Given the description of an element on the screen output the (x, y) to click on. 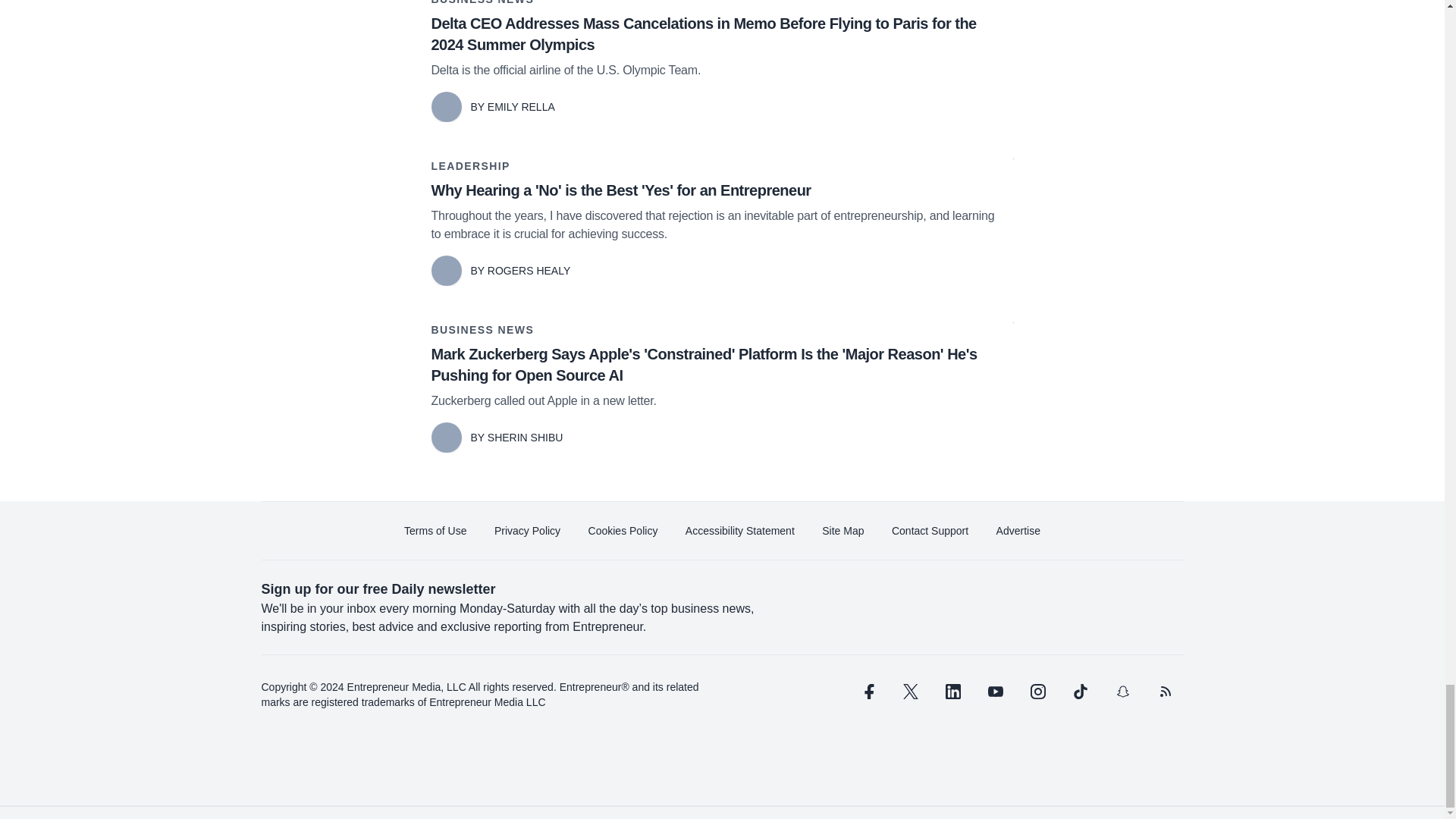
linkedin (952, 691)
snapchat (1121, 691)
tiktok (1079, 691)
facebook (866, 691)
youtube (994, 691)
instagram (1037, 691)
twitter (909, 691)
